Given the description of an element on the screen output the (x, y) to click on. 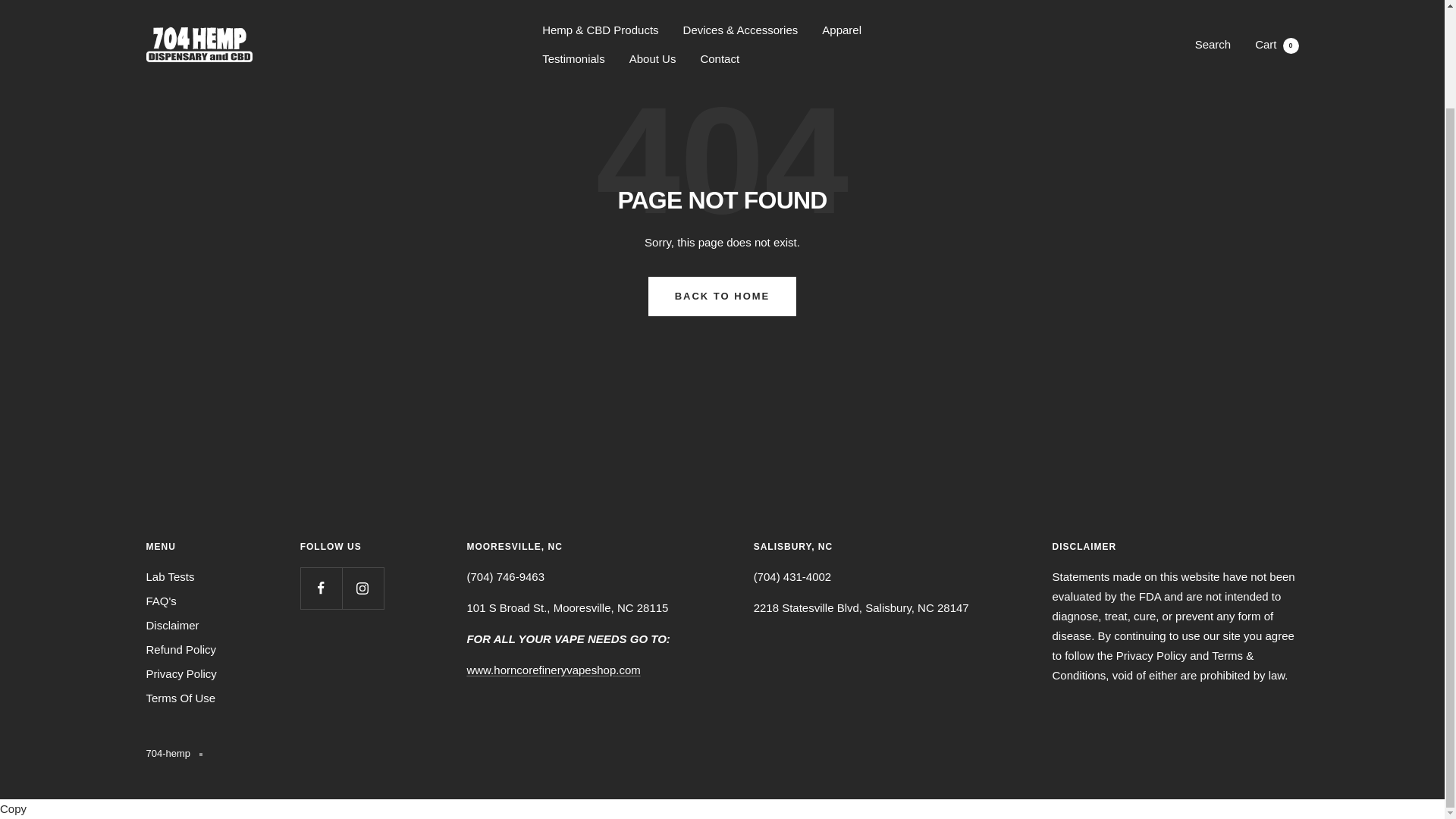
BACK TO HOME (721, 295)
Lab Tests (169, 577)
FAQ's (160, 600)
Refund Policy (180, 649)
Disclaimer (171, 625)
Privacy Policy (180, 673)
www.horncorefineryvapeshop.com (552, 669)
Terms Of Use (180, 698)
